Given the description of an element on the screen output the (x, y) to click on. 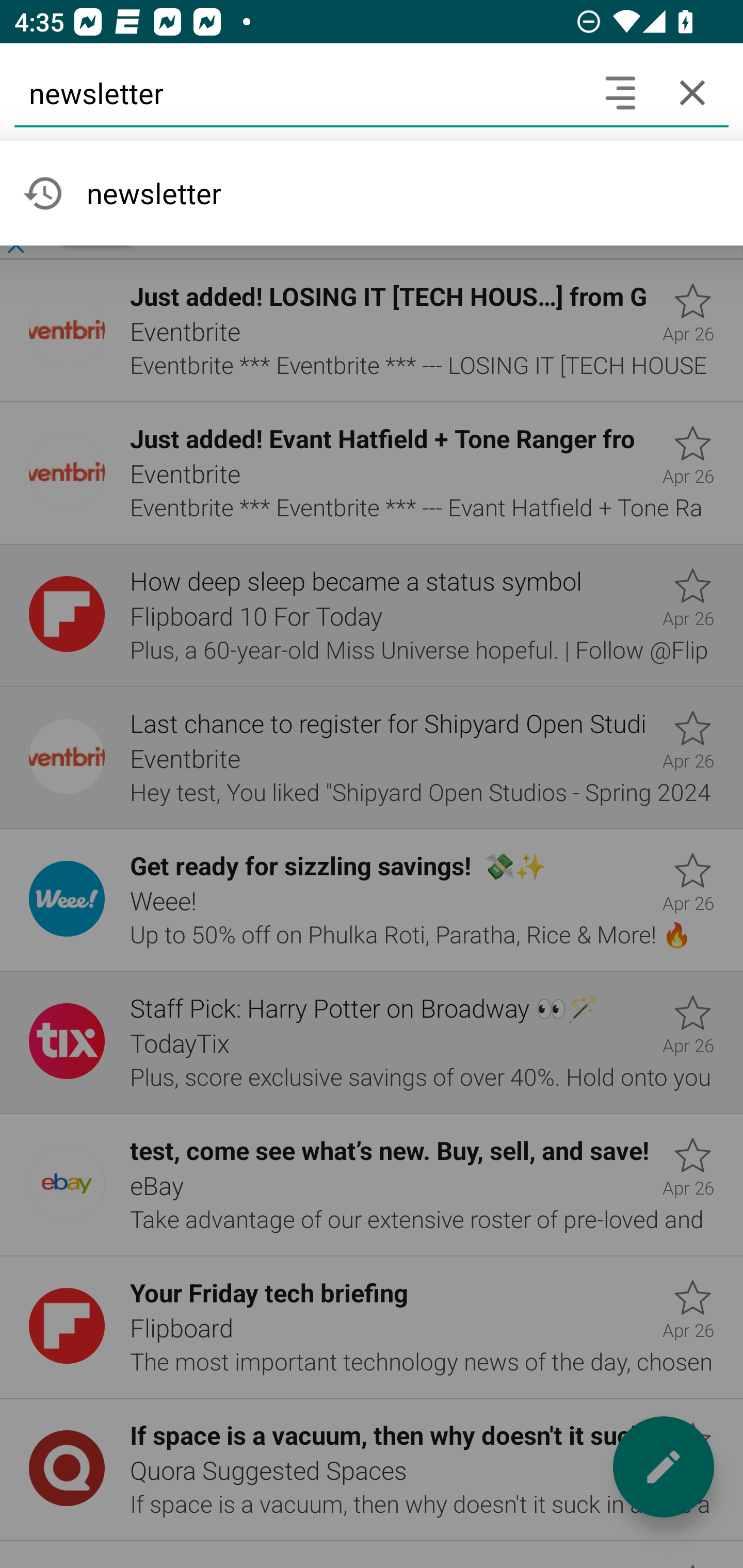
newsletter (298, 92)
Search headers and text (619, 92)
Cancel (692, 92)
